Given the description of an element on the screen output the (x, y) to click on. 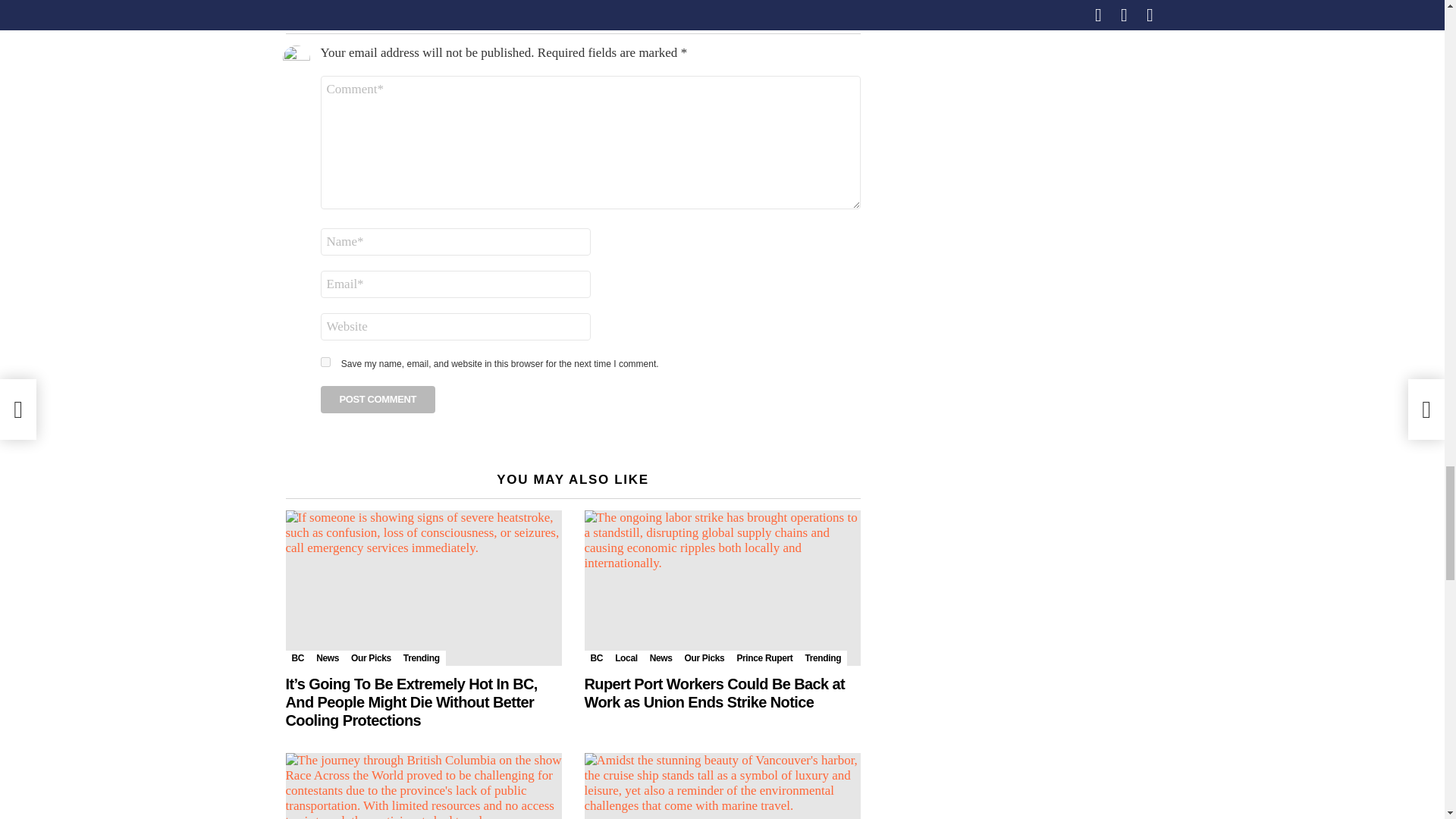
yes (325, 361)
Post Comment (377, 399)
Post Comment (377, 399)
